Given the description of an element on the screen output the (x, y) to click on. 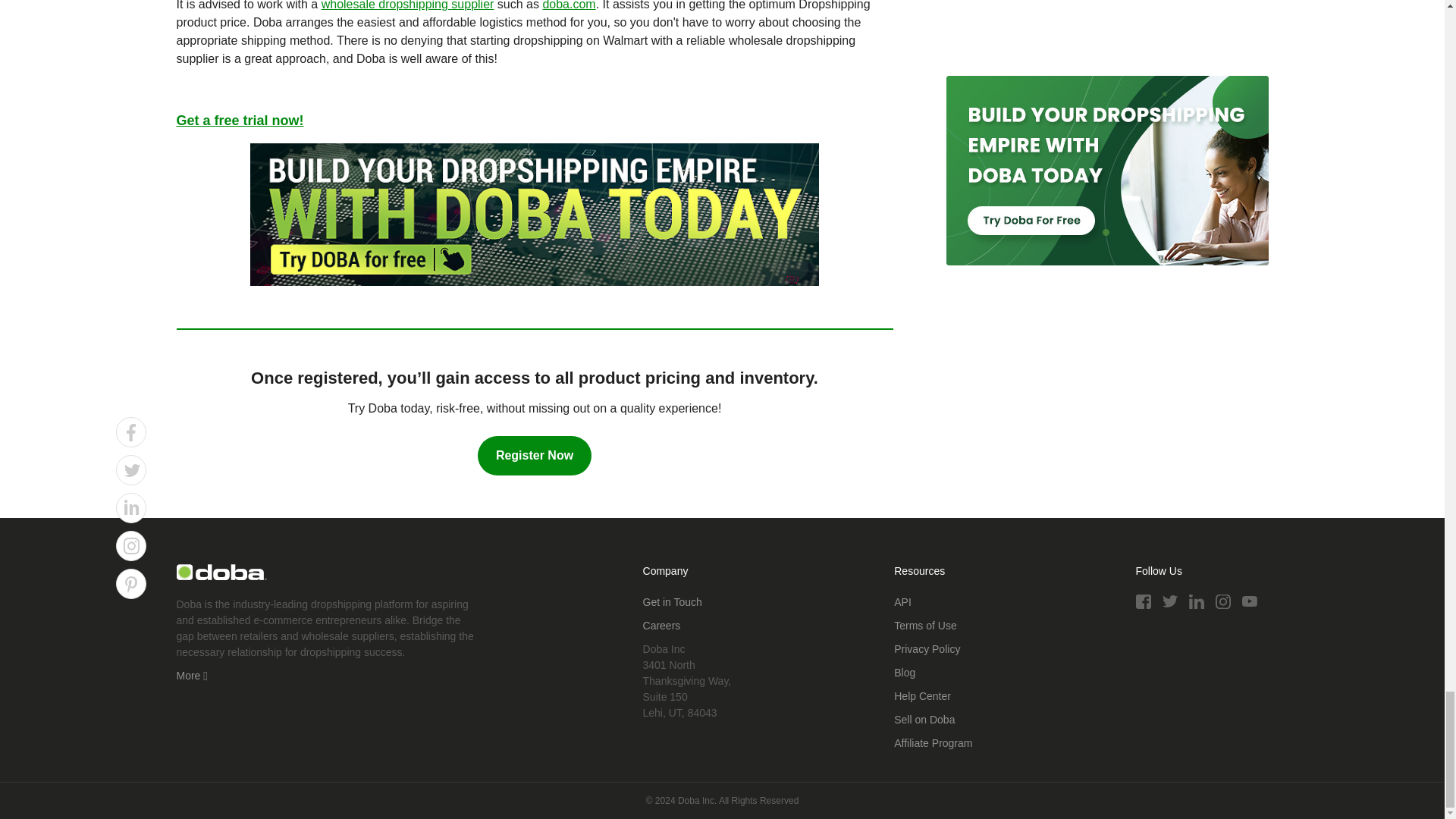
wholesale dropshipping supplier (408, 5)
doba.com (568, 5)
Get a free trial now! (239, 120)
